Given the description of an element on the screen output the (x, y) to click on. 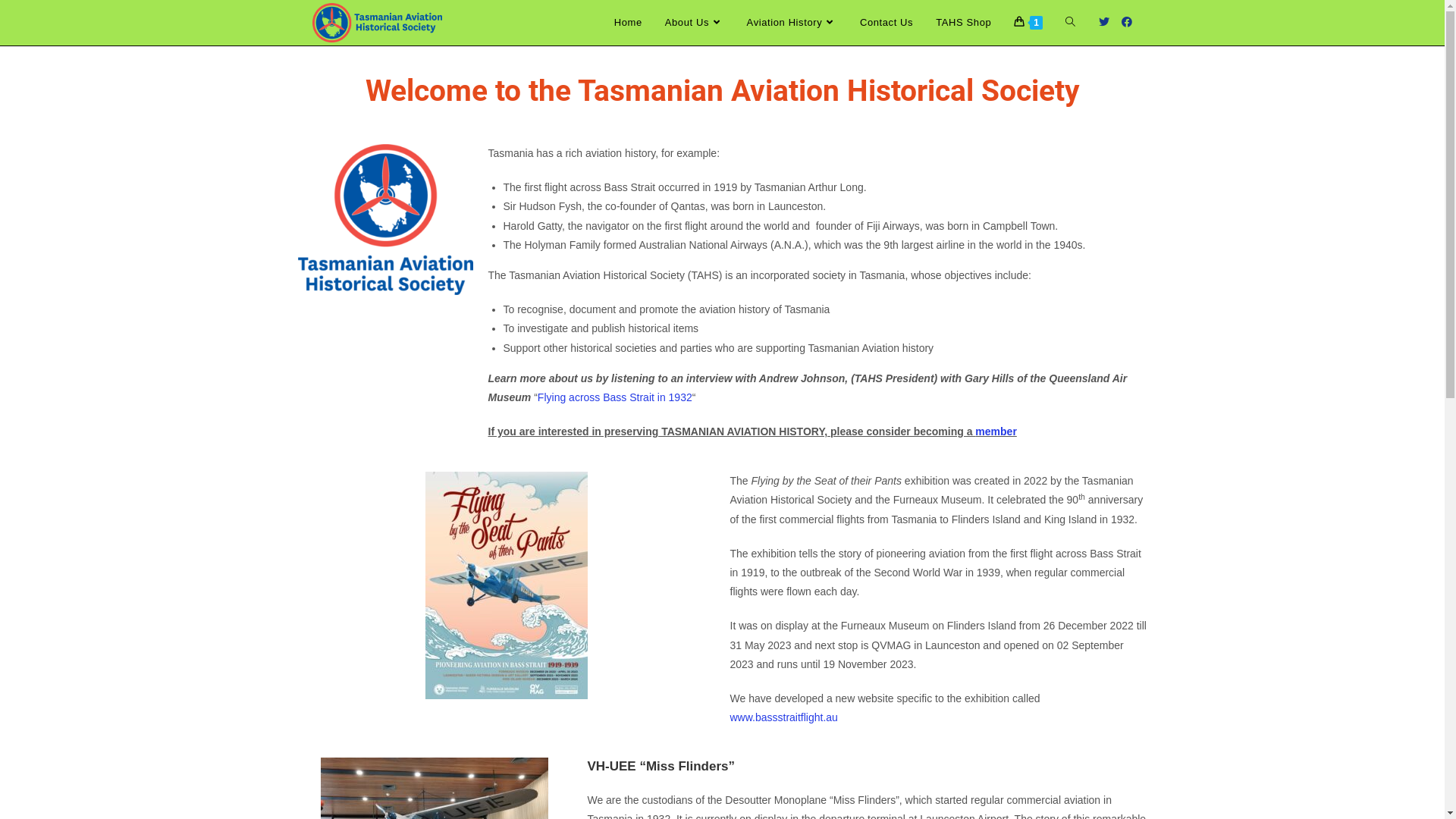
TAHS Shop Element type: text (963, 22)
member Element type: text (995, 431)
Home Element type: text (627, 22)
1 Element type: text (1028, 22)
Aviation History Element type: text (791, 22)
Contact Us Element type: text (886, 22)
About Us Element type: text (694, 22)
www.bassstraitflight.au Element type: text (783, 717)
Flying across Bass Strait in 1932 Element type: text (614, 397)
